Given the description of an element on the screen output the (x, y) to click on. 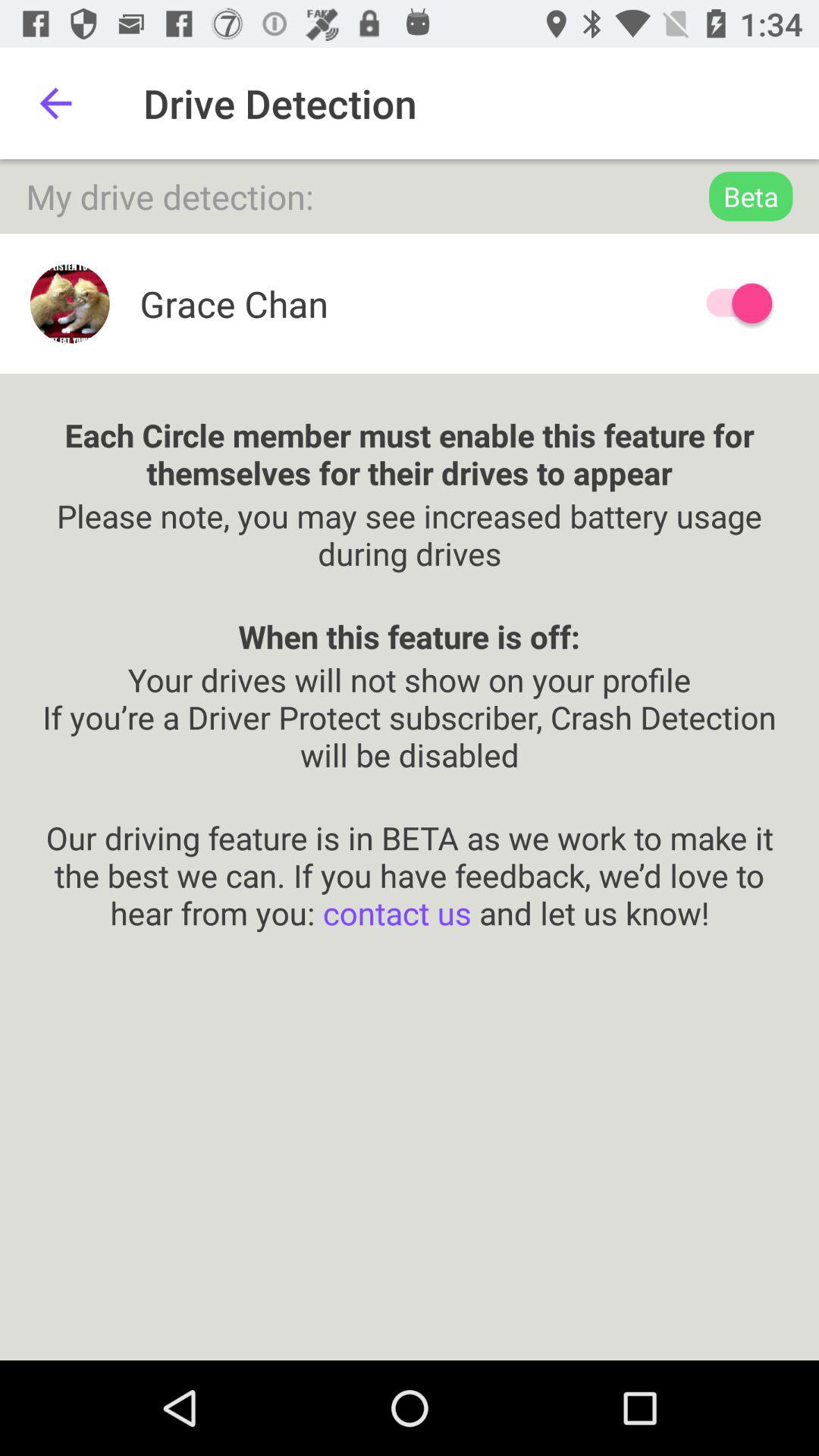
open the item above the my drive detection: item (55, 103)
